Given the description of an element on the screen output the (x, y) to click on. 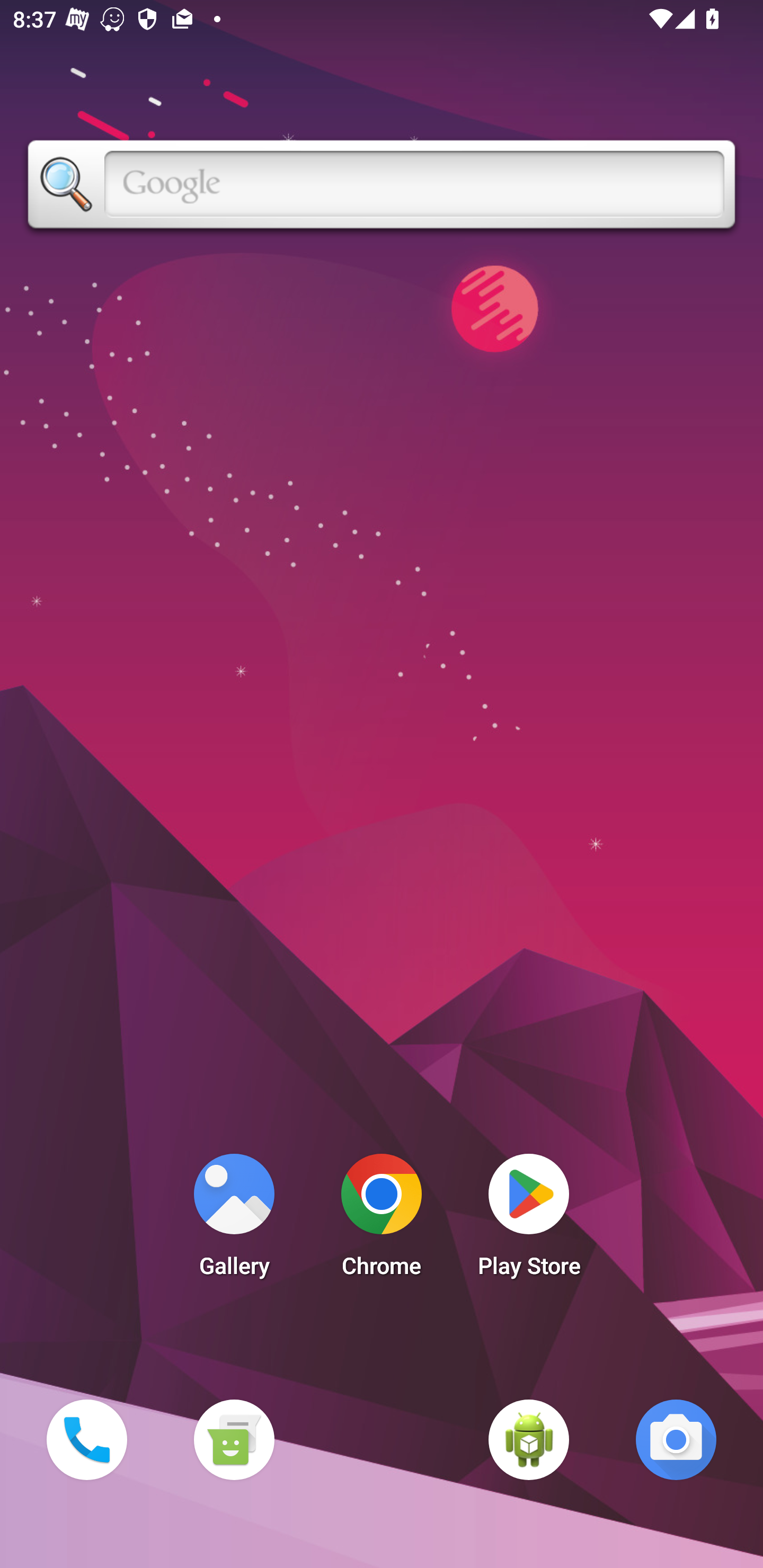
Gallery (233, 1220)
Chrome (381, 1220)
Play Store (528, 1220)
Phone (86, 1439)
Messaging (233, 1439)
WebView Browser Tester (528, 1439)
Camera (676, 1439)
